Given the description of an element on the screen output the (x, y) to click on. 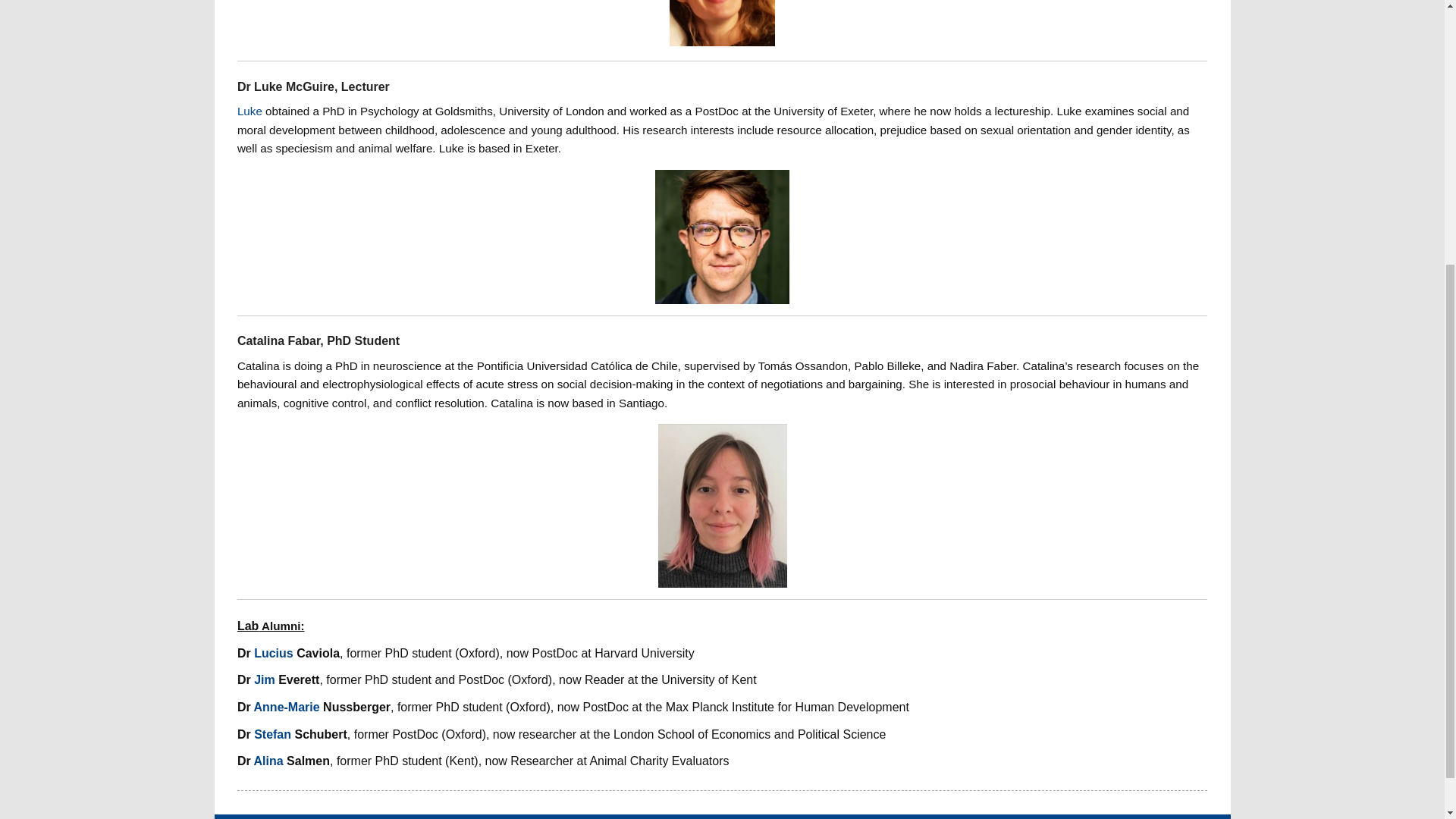
Anne-Marie (286, 707)
Luke (249, 110)
Lucius (273, 653)
Alina (268, 760)
Jim (264, 679)
Stefan (272, 734)
